Given the description of an element on the screen output the (x, y) to click on. 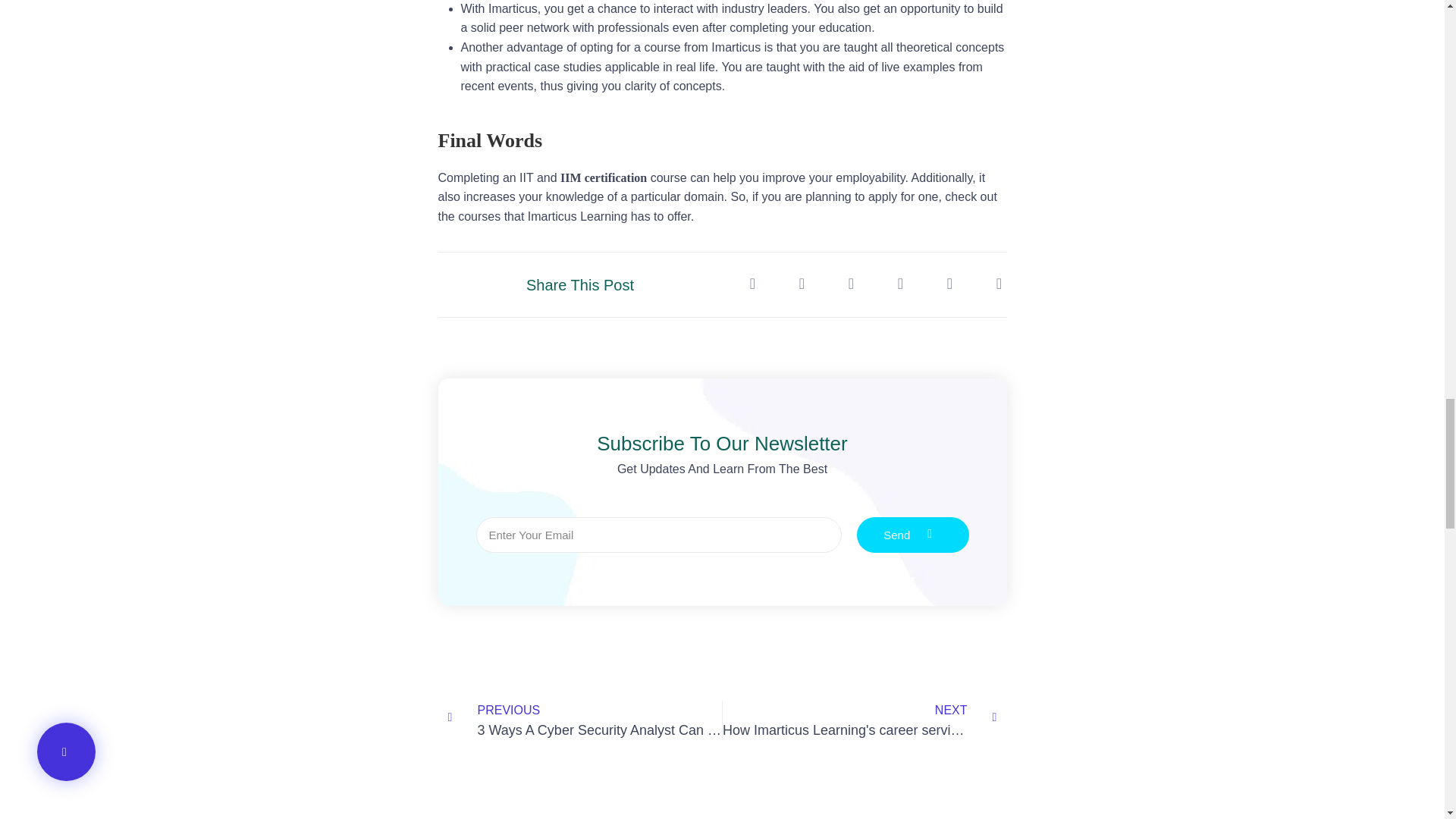
Send (913, 534)
